Given the description of an element on the screen output the (x, y) to click on. 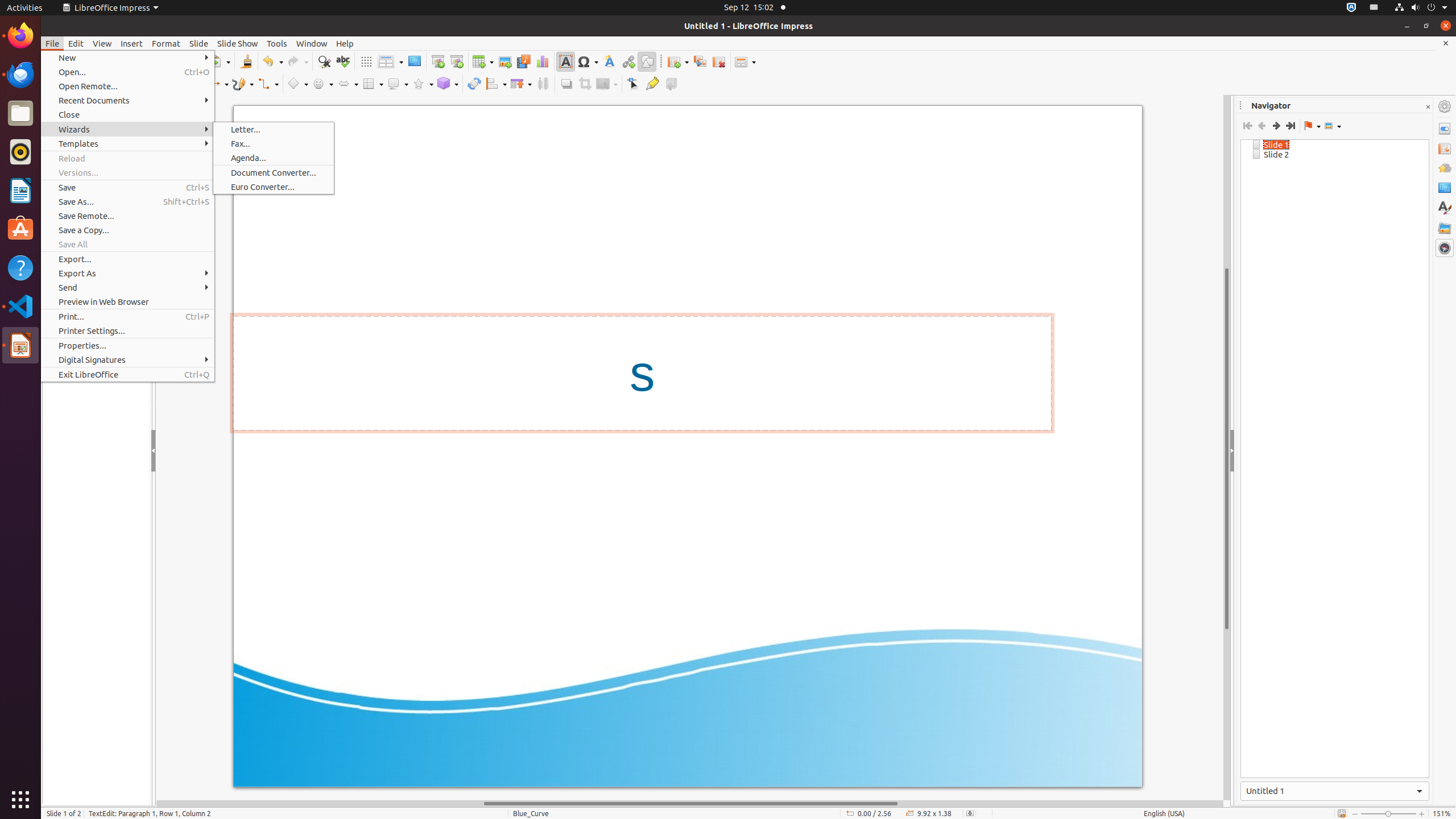
Active Window Element type: combo-box (1334, 790)
Slide Show Element type: menu (237, 43)
Open Remote... Element type: menu-item (127, 86)
Agenda... Element type: menu-item (273, 157)
Show Shapes Element type: push-button (1332, 125)
